Given the description of an element on the screen output the (x, y) to click on. 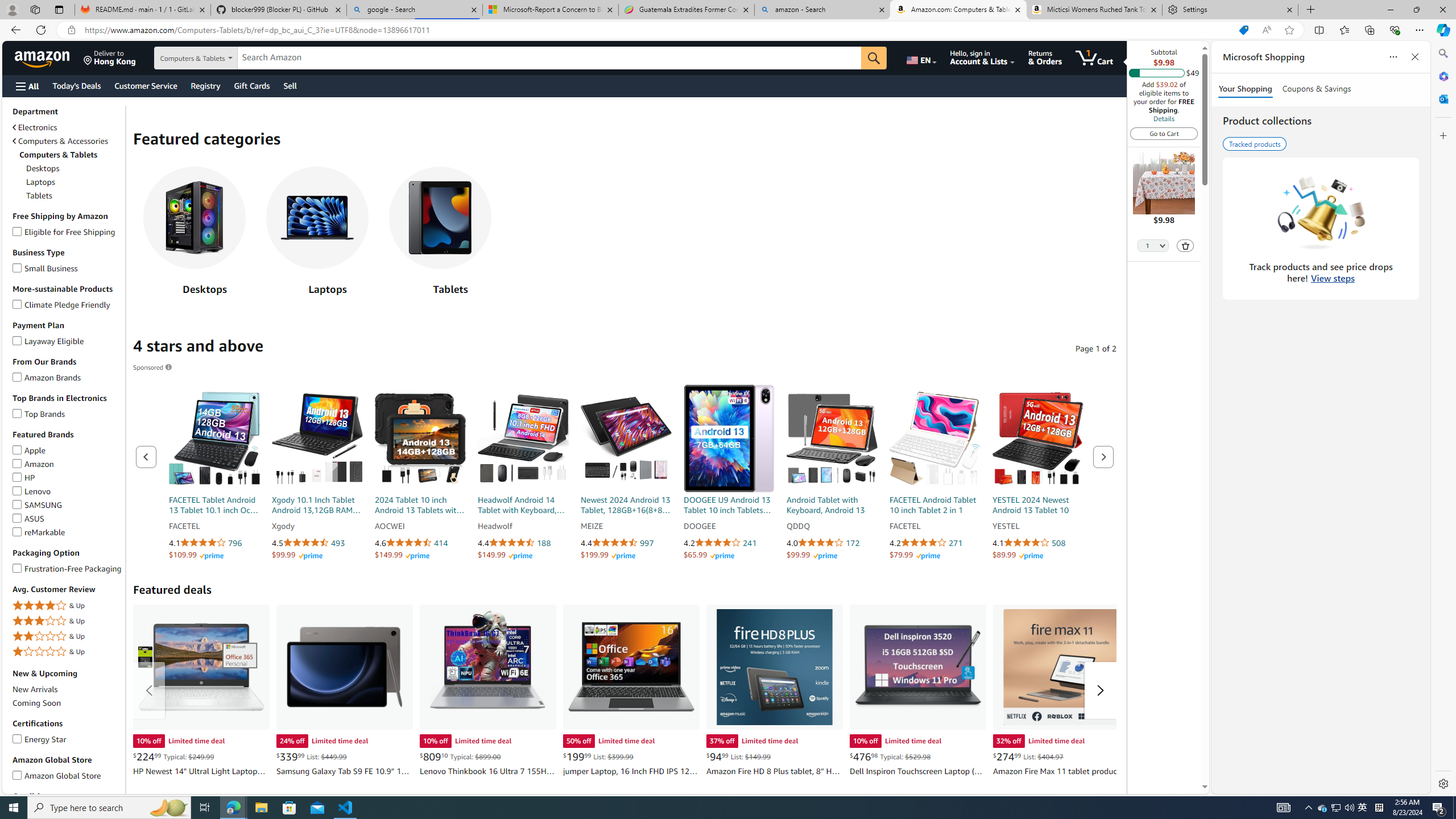
Next page of related Sponsored Products (1103, 456)
Sell (290, 85)
Xgody (317, 526)
HPHP (67, 477)
Climate Pledge Friendly (17, 302)
Layaway EligibleLayaway Eligible (67, 341)
Frustration-Free PackagingFrustration-Free Packaging (67, 568)
Registry (205, 85)
LenovoLenovo (67, 491)
DOOGEE (729, 526)
